Given the description of an element on the screen output the (x, y) to click on. 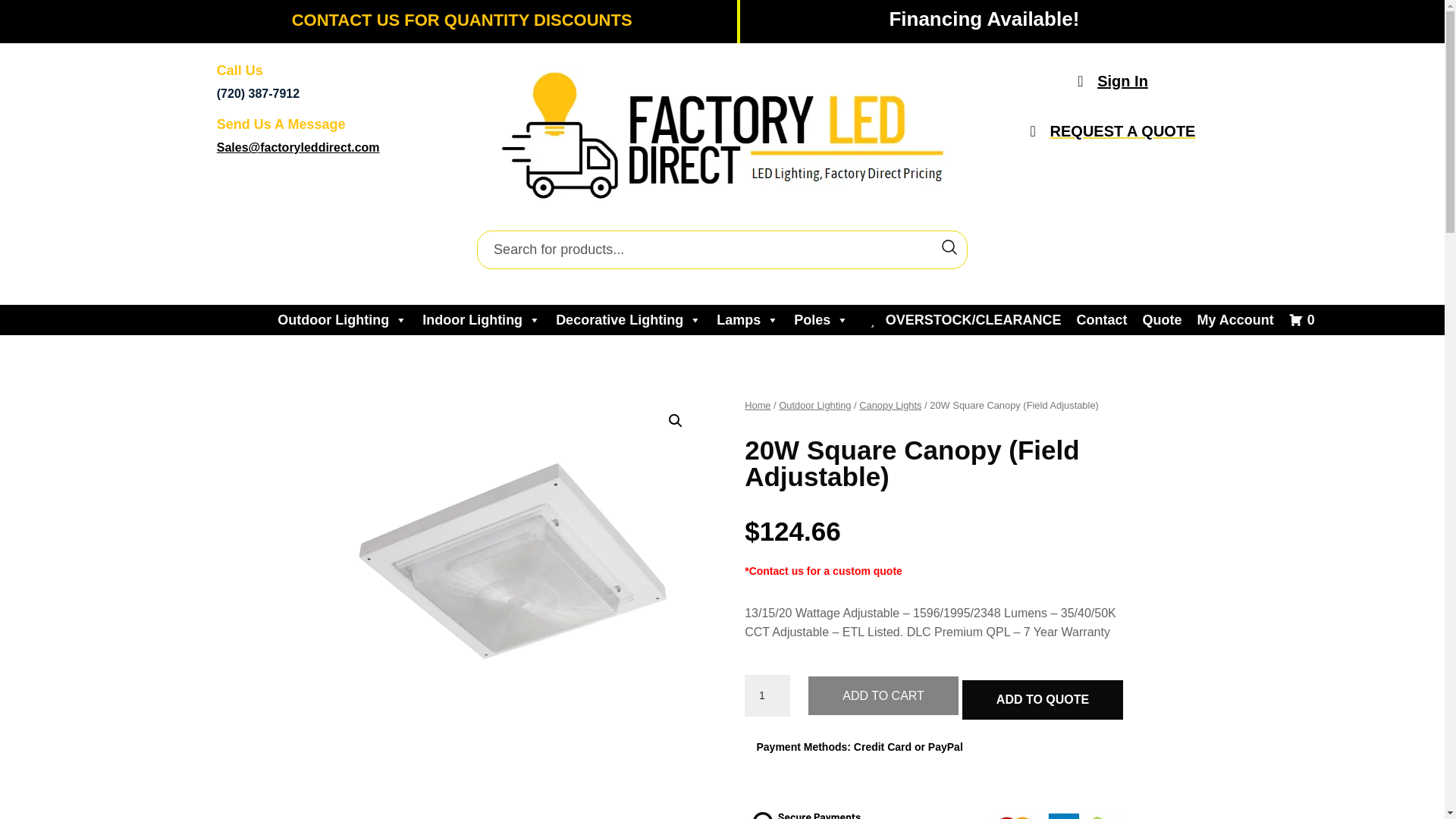
1 (767, 695)
FLALUX (505, 558)
REQUEST A QUOTE (1113, 130)
Secure Payments (937, 805)
Decorative Lighting (628, 319)
Indoor Lighting (481, 319)
Sign In (1112, 80)
Outdoor Lighting (341, 319)
Factory LED Direct Wholesale LED Lighting (722, 139)
